Given the description of an element on the screen output the (x, y) to click on. 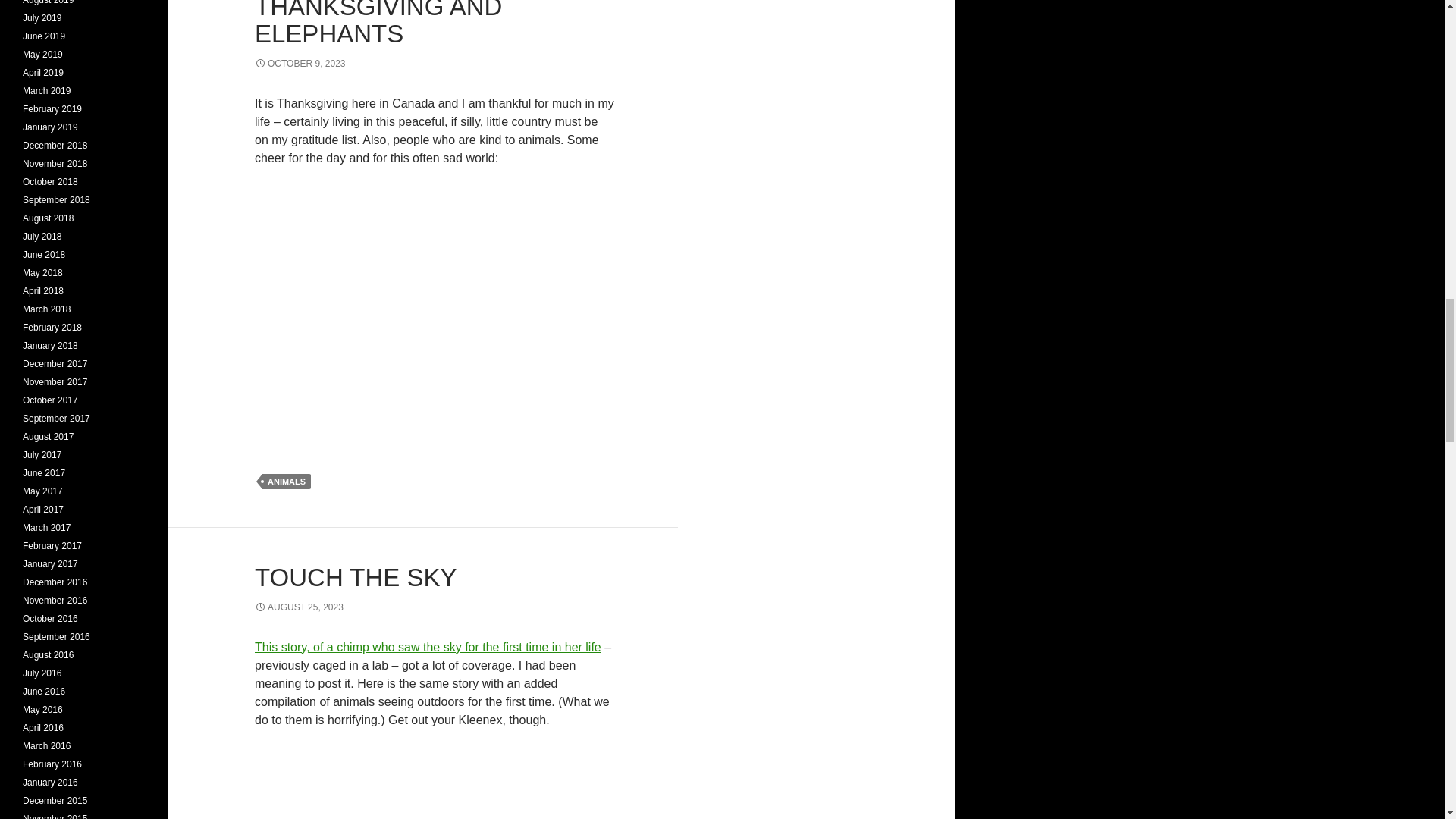
ANIMALS (286, 481)
THANKSGIVING AND ELEPHANTS (378, 23)
OCTOBER 9, 2023 (300, 63)
